Given the description of an element on the screen output the (x, y) to click on. 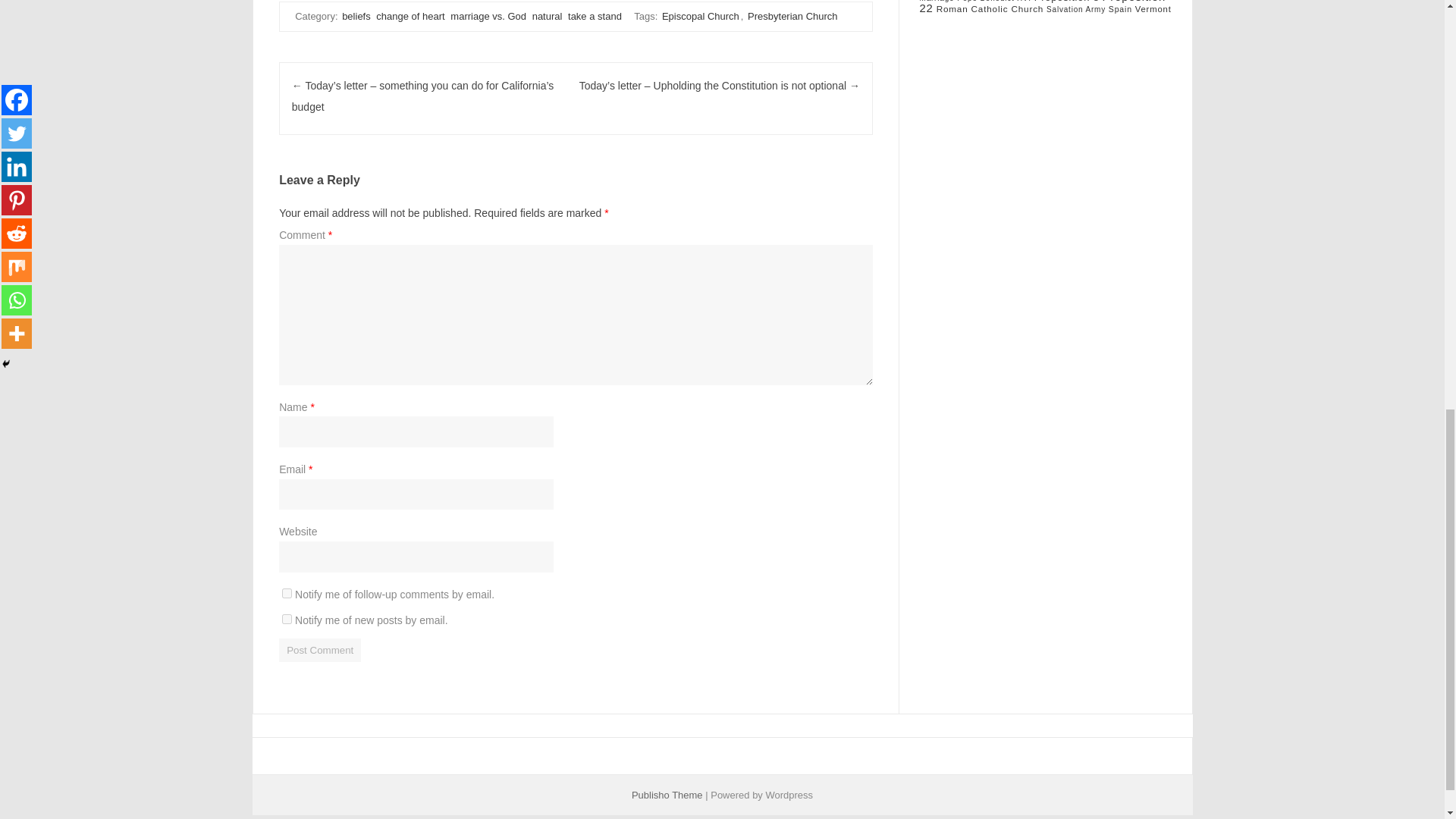
marriage vs. God (487, 16)
subscribe (287, 593)
change of heart (409, 16)
take a stand (594, 16)
beliefs (356, 16)
natural (547, 16)
subscribe (287, 619)
Post Comment (320, 649)
